Given the description of an element on the screen output the (x, y) to click on. 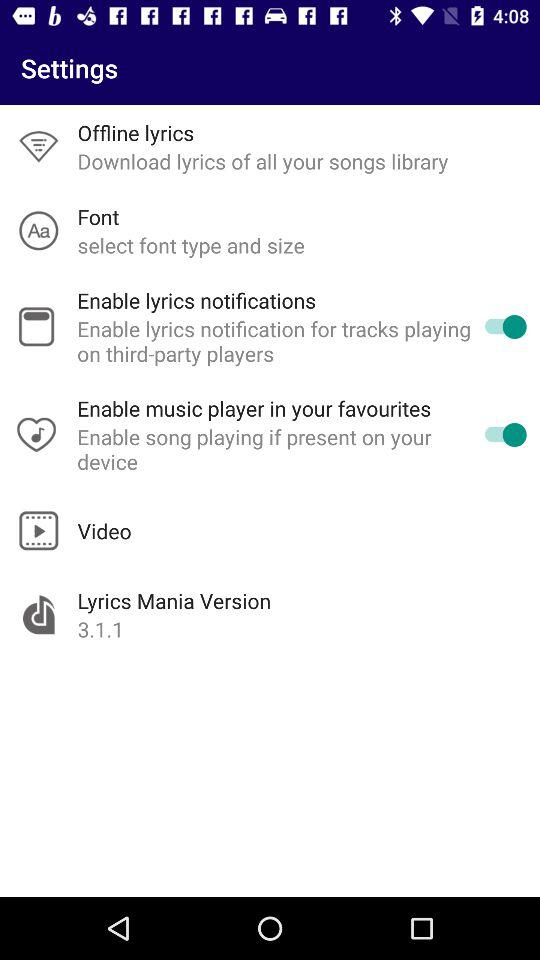
choose video (104, 530)
